Given the description of an element on the screen output the (x, y) to click on. 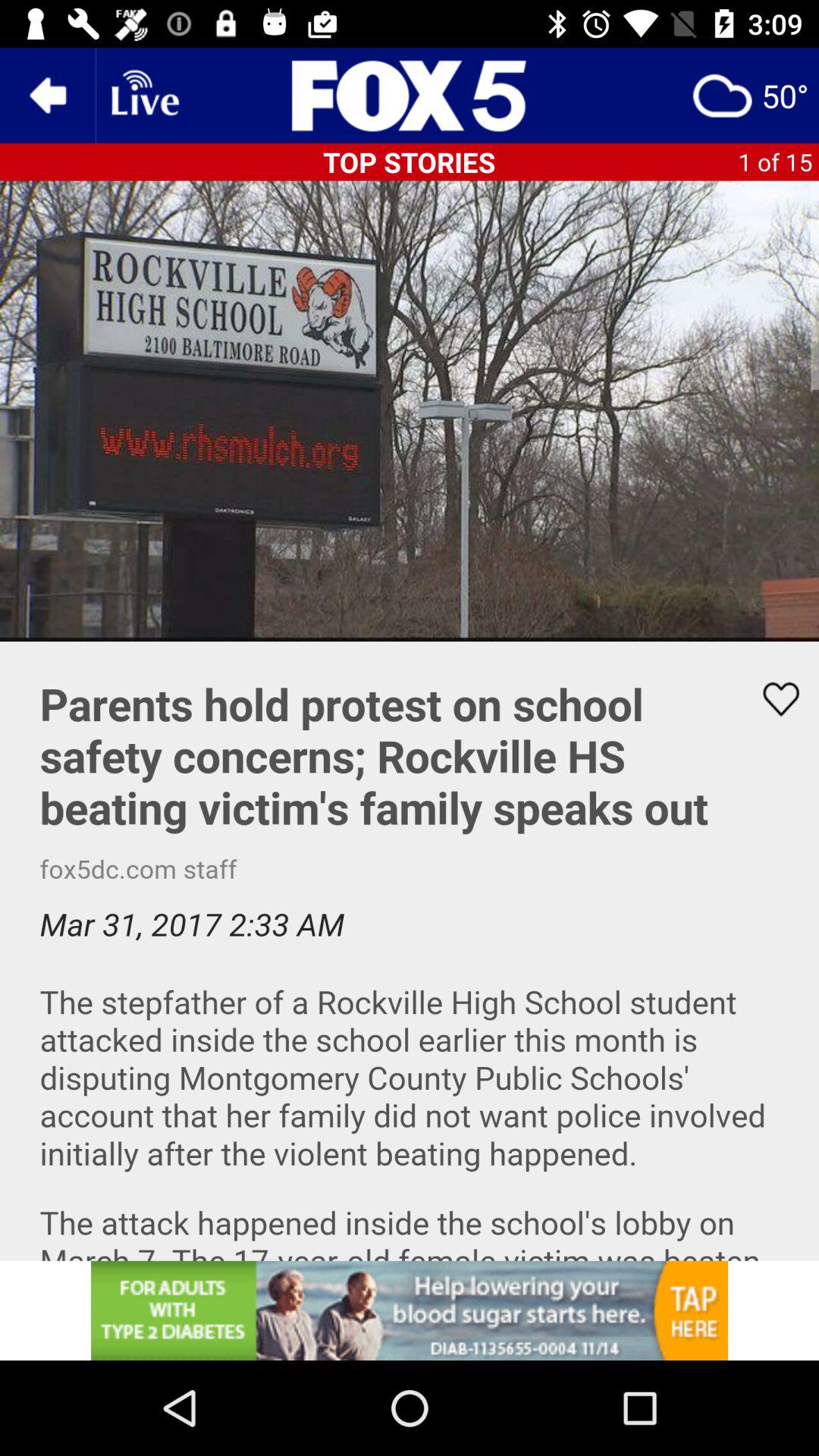
click on advertisements (409, 1310)
